Given the description of an element on the screen output the (x, y) to click on. 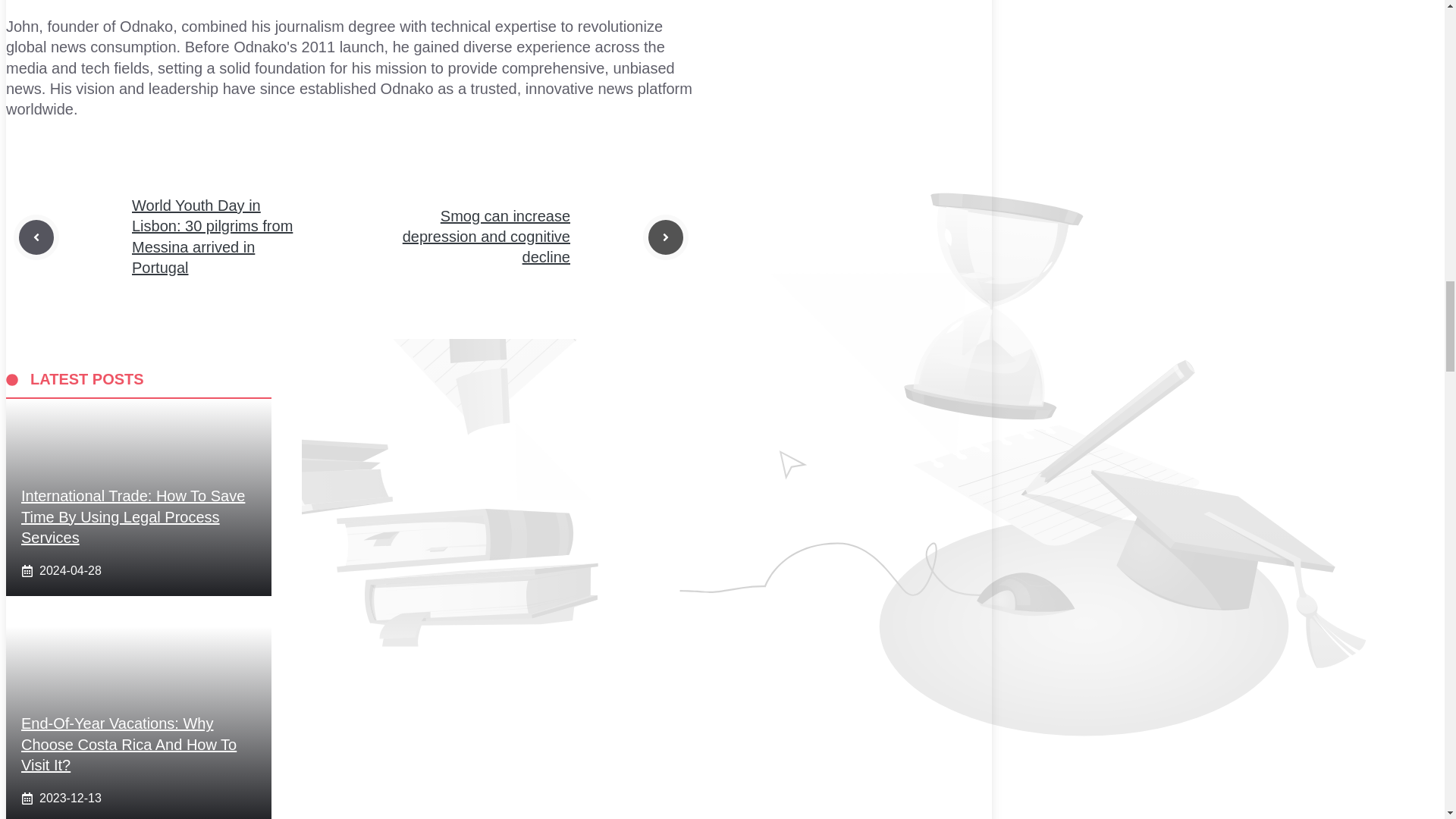
Smog can increase depression and cognitive decline (486, 236)
